Given the description of an element on the screen output the (x, y) to click on. 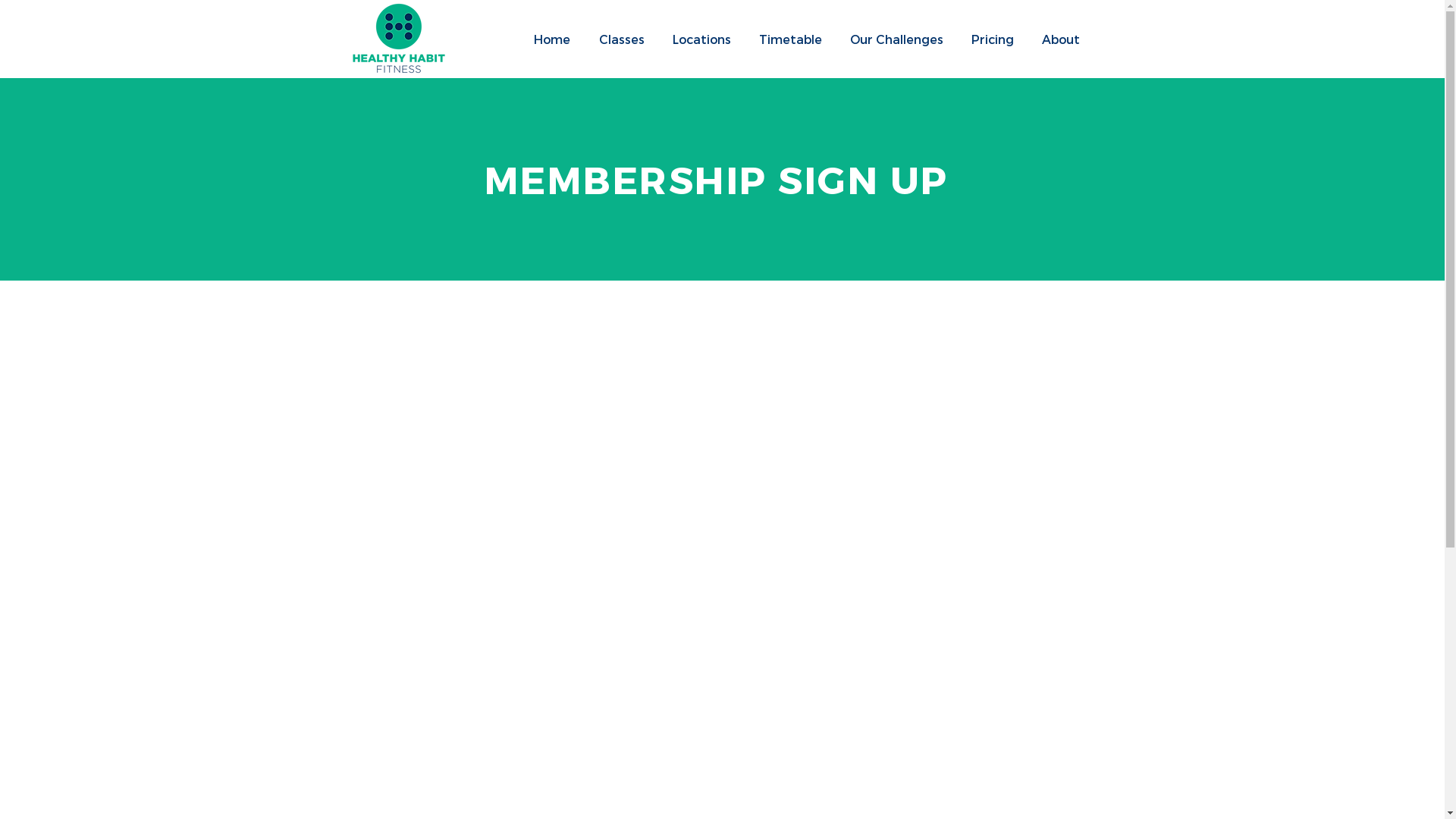
Timetable Element type: text (789, 38)
Pricing Element type: text (992, 38)
Our Challenges Element type: text (896, 38)
Home Element type: text (550, 38)
HHF_Logo_Stacked.png Element type: hover (397, 38)
Locations Element type: text (701, 38)
